Given the description of an element on the screen output the (x, y) to click on. 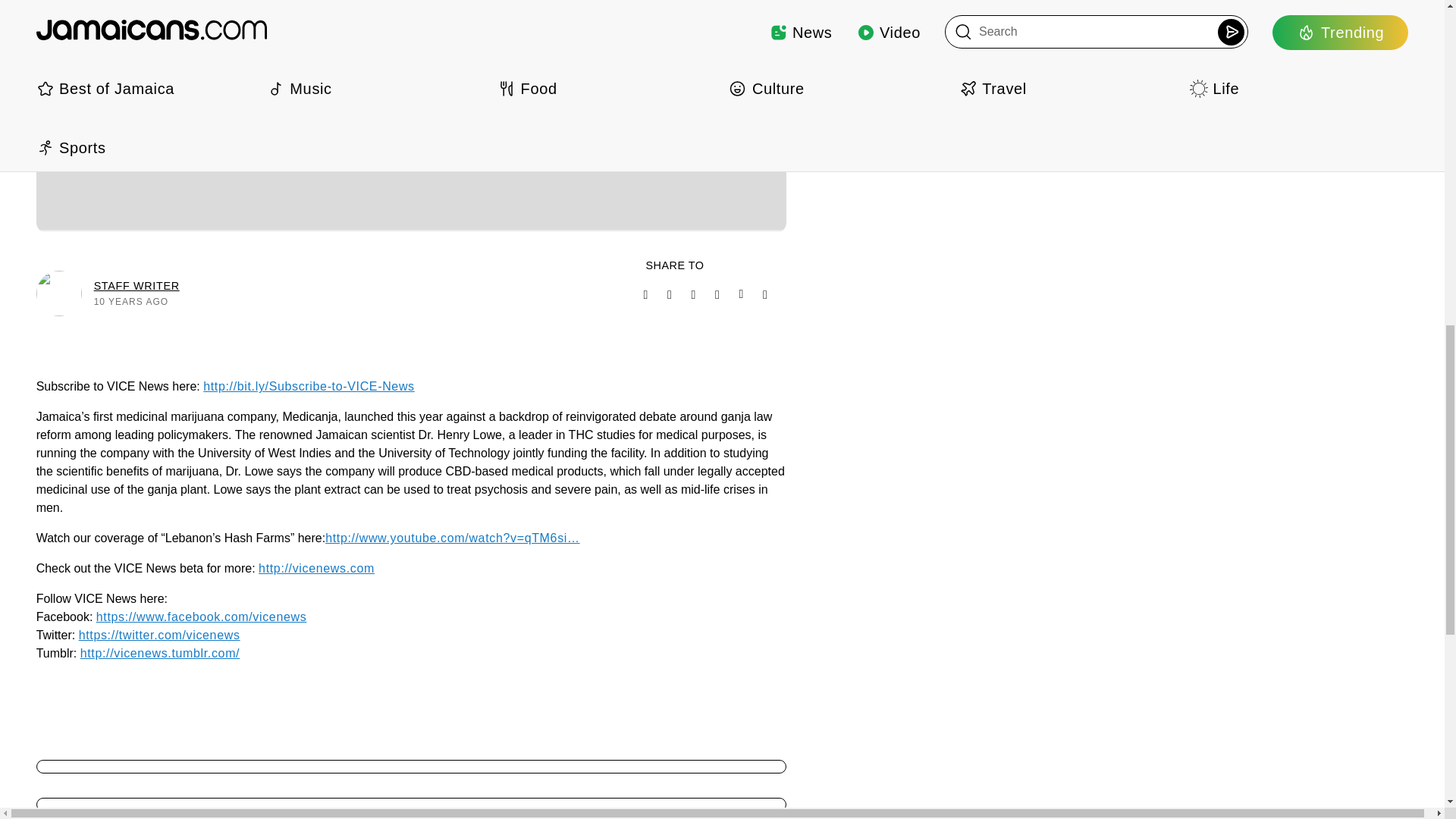
STAFF WRITER (136, 285)
